Given the description of an element on the screen output the (x, y) to click on. 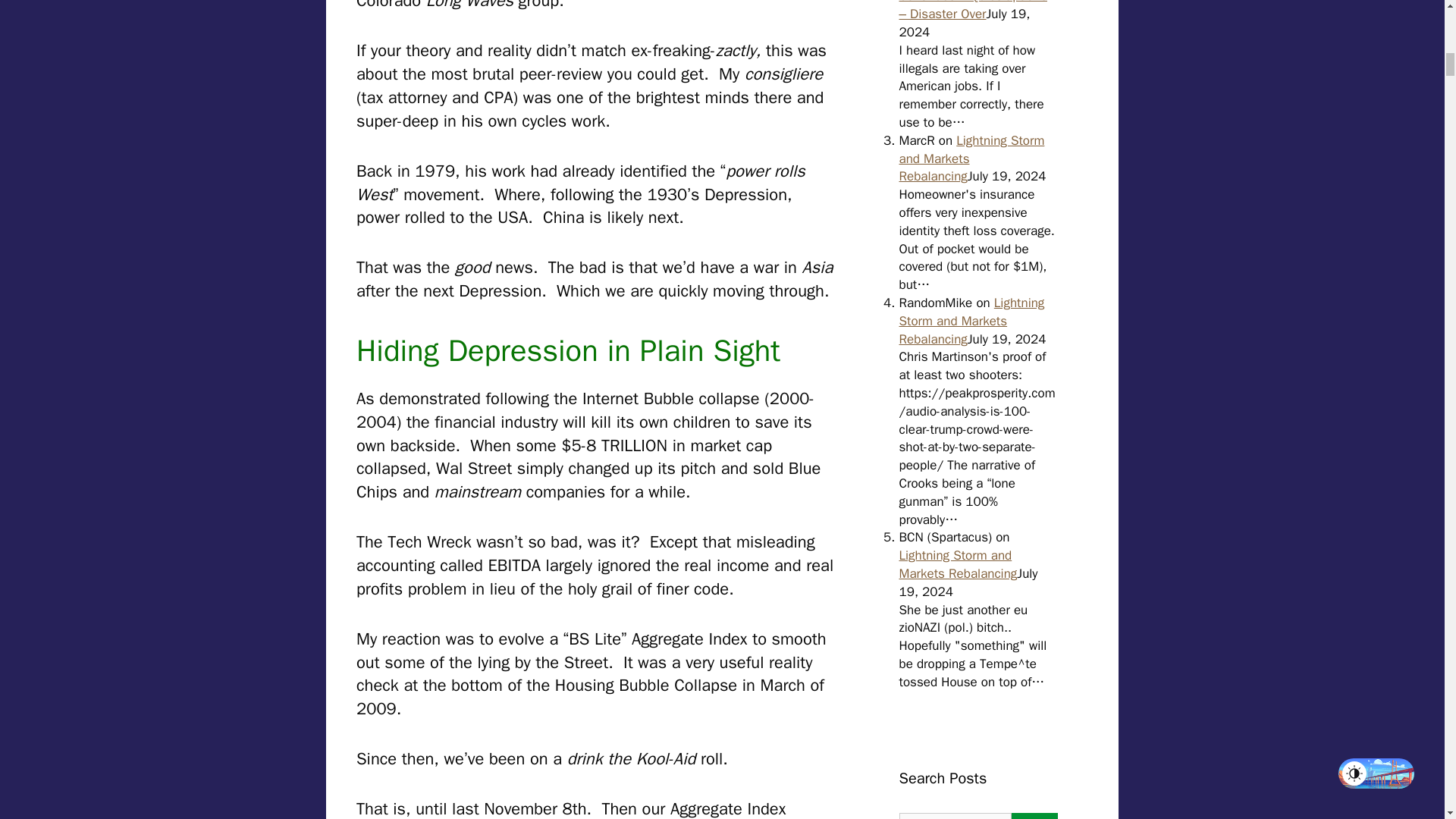
Search for: (955, 816)
